Given the description of an element on the screen output the (x, y) to click on. 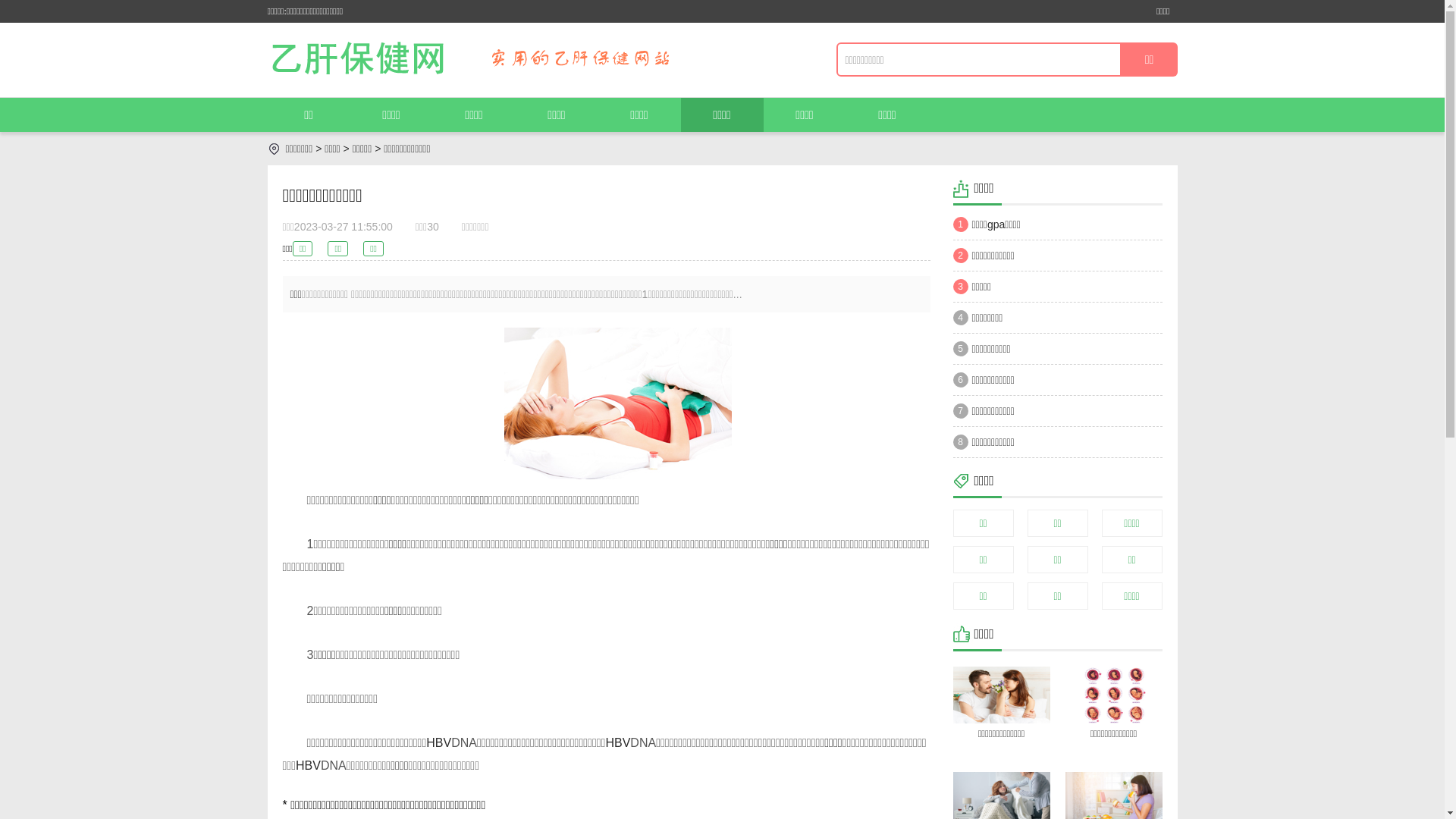
HBV Element type: text (307, 765)
HBV Element type: text (438, 742)
HBV Element type: text (617, 742)
